Given the description of an element on the screen output the (x, y) to click on. 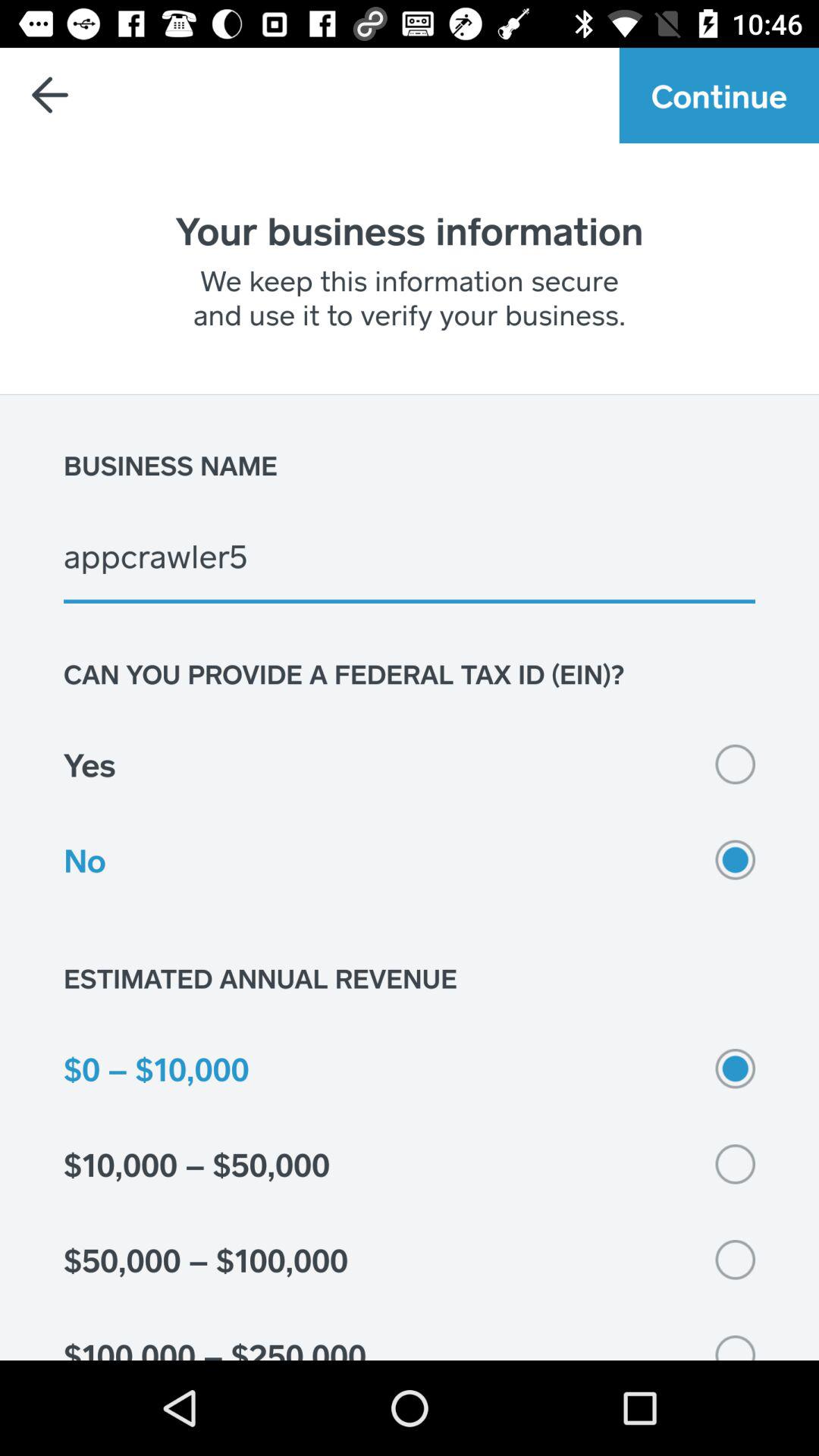
turn on the item below your business information icon (409, 297)
